Given the description of an element on the screen output the (x, y) to click on. 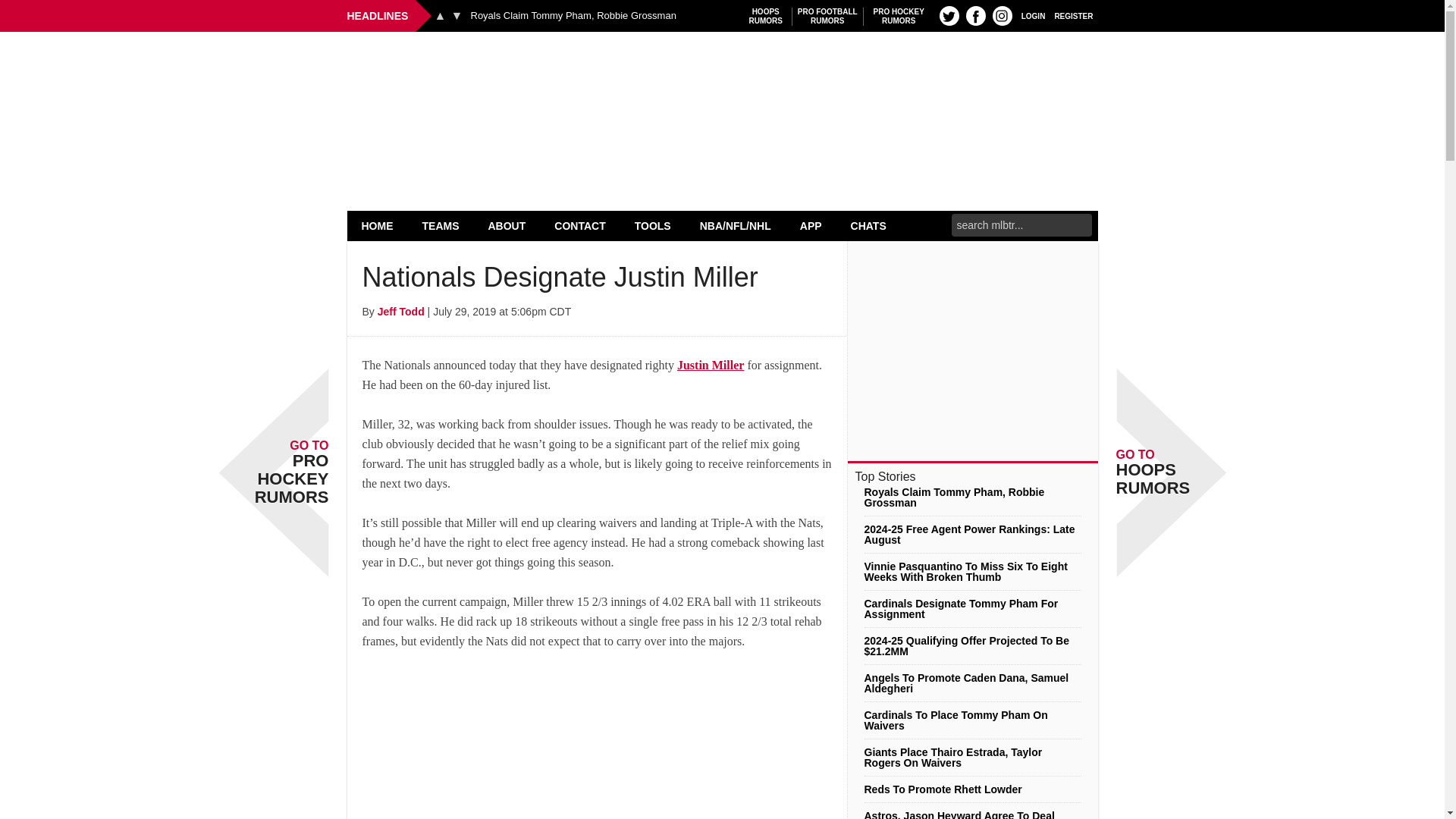
Previous (439, 15)
Royals Claim Tommy Pham, Robbie Grossman (572, 15)
MLB Trade Rumors (765, 16)
FB profile (722, 69)
LOGIN (975, 15)
Next (1032, 15)
Instagram profile (456, 15)
REGISTER (827, 16)
